Given the description of an element on the screen output the (x, y) to click on. 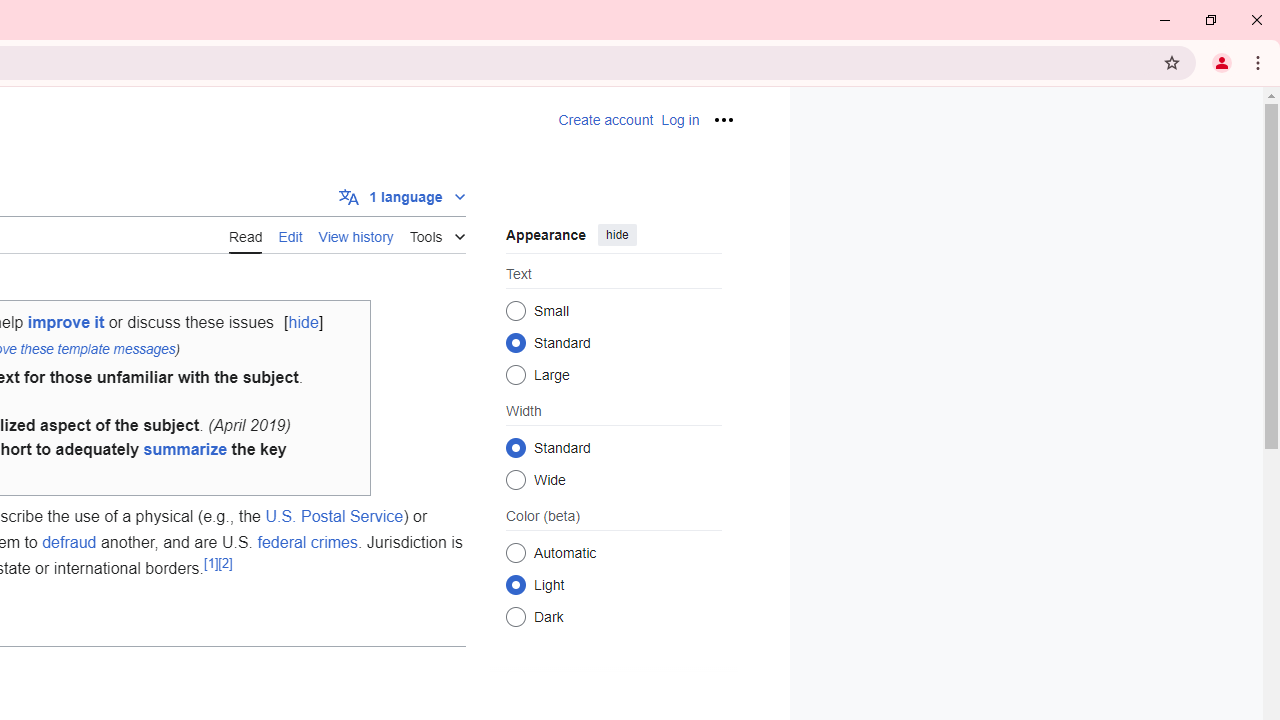
summarize (185, 449)
Tools (437, 233)
Read (245, 235)
View history (355, 235)
AutomationID: ca-view (245, 234)
